Given the description of an element on the screen output the (x, y) to click on. 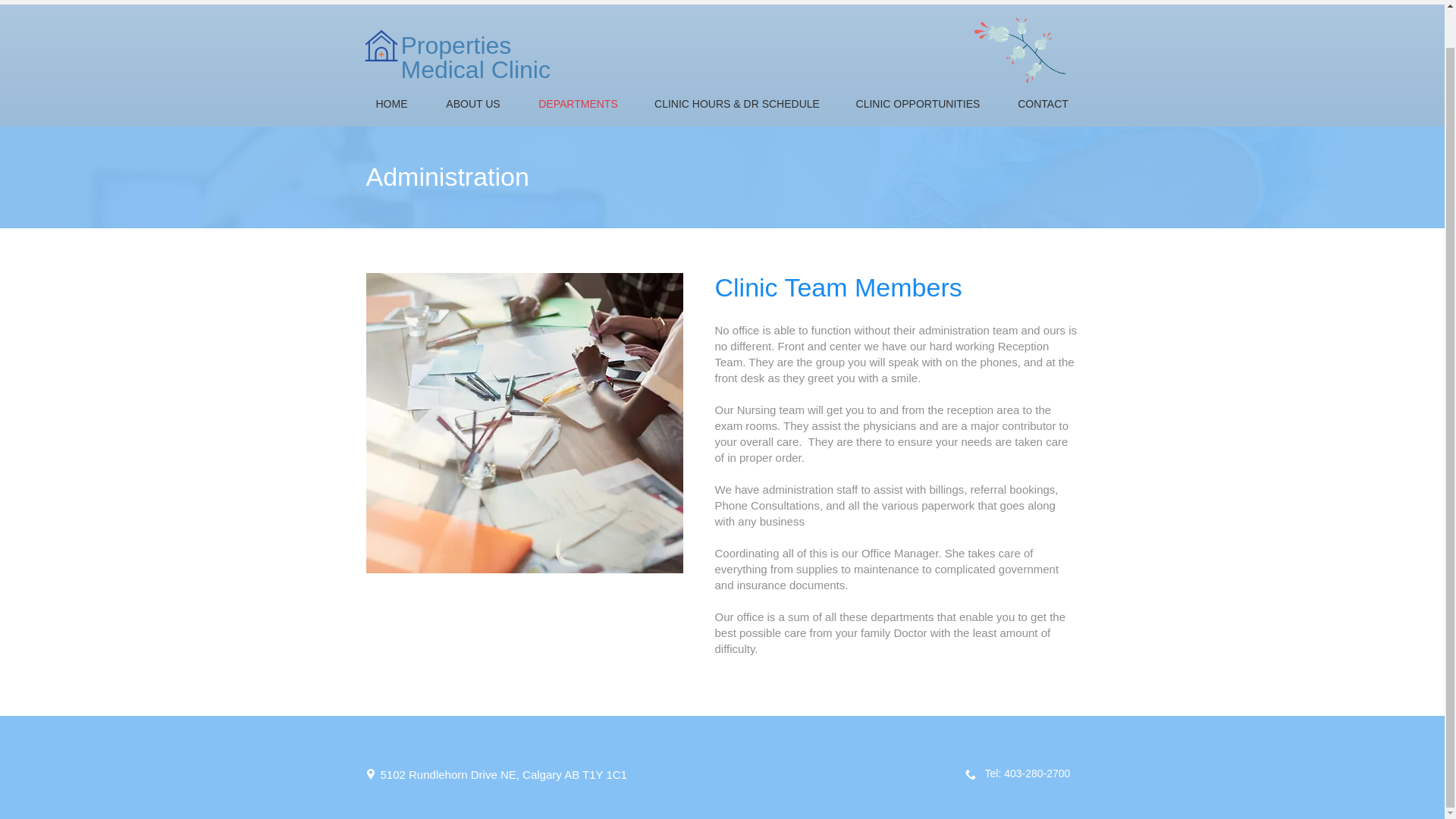
DEPARTMENTS (578, 103)
ABOUT US (472, 103)
Properties Medical Clinic (475, 57)
CONTACT (1042, 103)
CLINIC OPPORTUNITIES (917, 103)
HOME (391, 103)
